Given the description of an element on the screen output the (x, y) to click on. 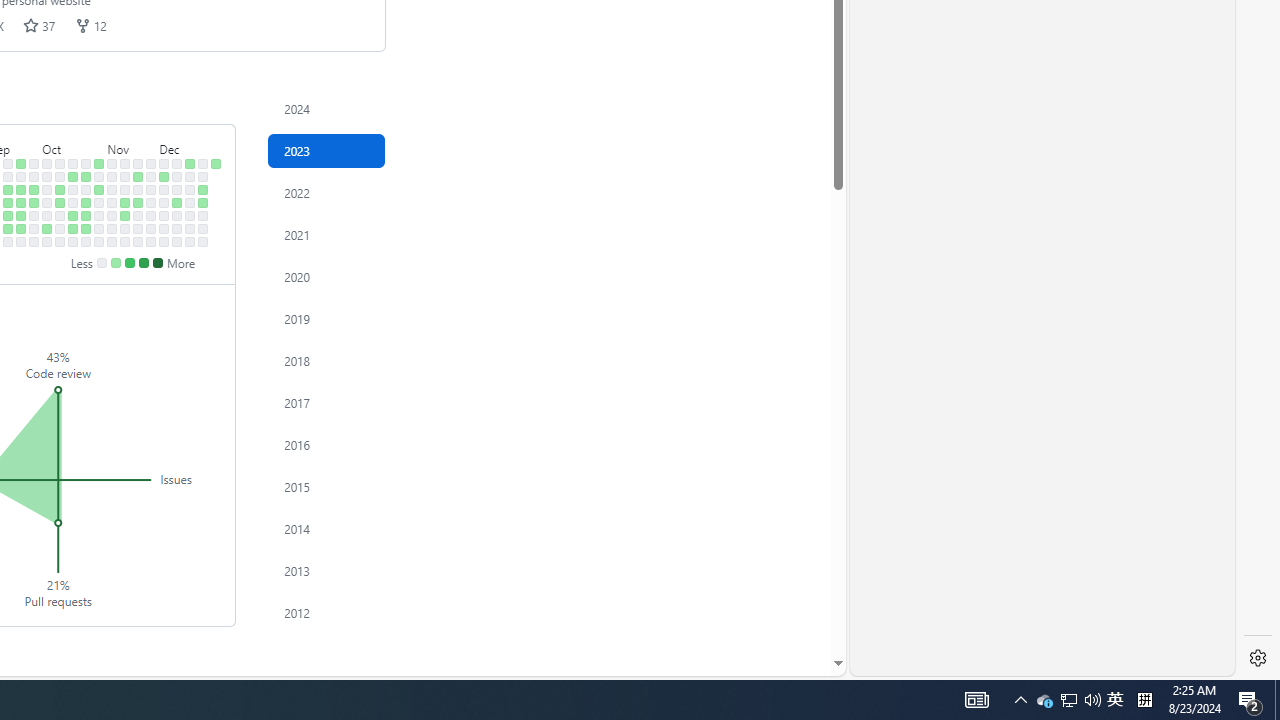
stars 37 (39, 25)
No contributions on December 9th. (164, 241)
No contributions on December 1st. (151, 228)
No contributions on October 13th. (60, 228)
Contribution activity in 2017 (326, 402)
No contributions on December 20th. (190, 202)
No contributions on November 26th. (151, 163)
No contributions on November 12th. (125, 163)
1 contribution on October 23rd. (86, 176)
1 contribution on October 29th. (98, 163)
No contributions on November 14th. (125, 189)
No contributions on November 27th. (151, 176)
December (189, 145)
